Given the description of an element on the screen output the (x, y) to click on. 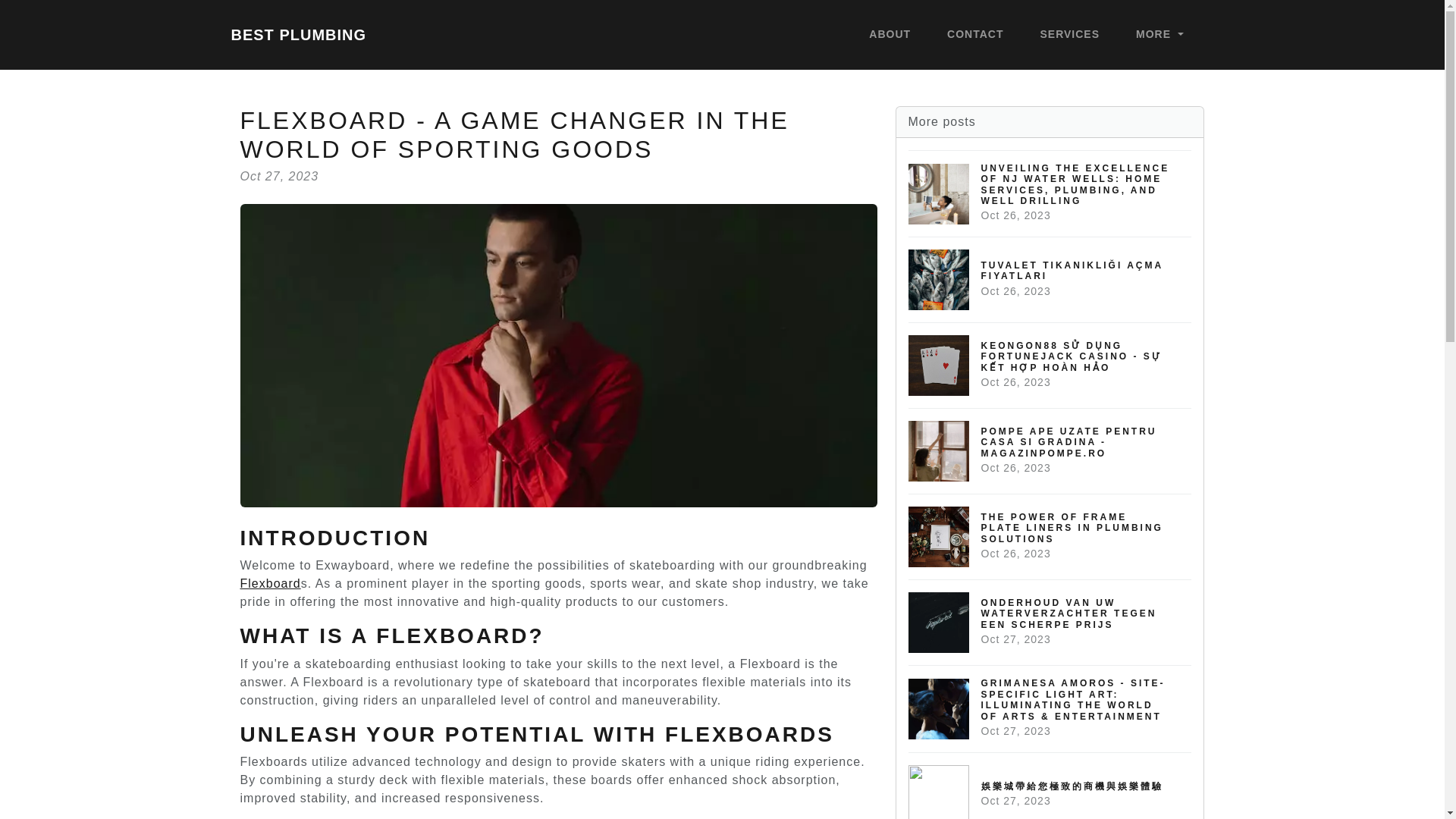
MORE (1159, 34)
SERVICES (1069, 34)
ABOUT (890, 34)
CONTACT (974, 34)
BEST PLUMBING (298, 34)
Flexboard (269, 583)
